Given the description of an element on the screen output the (x, y) to click on. 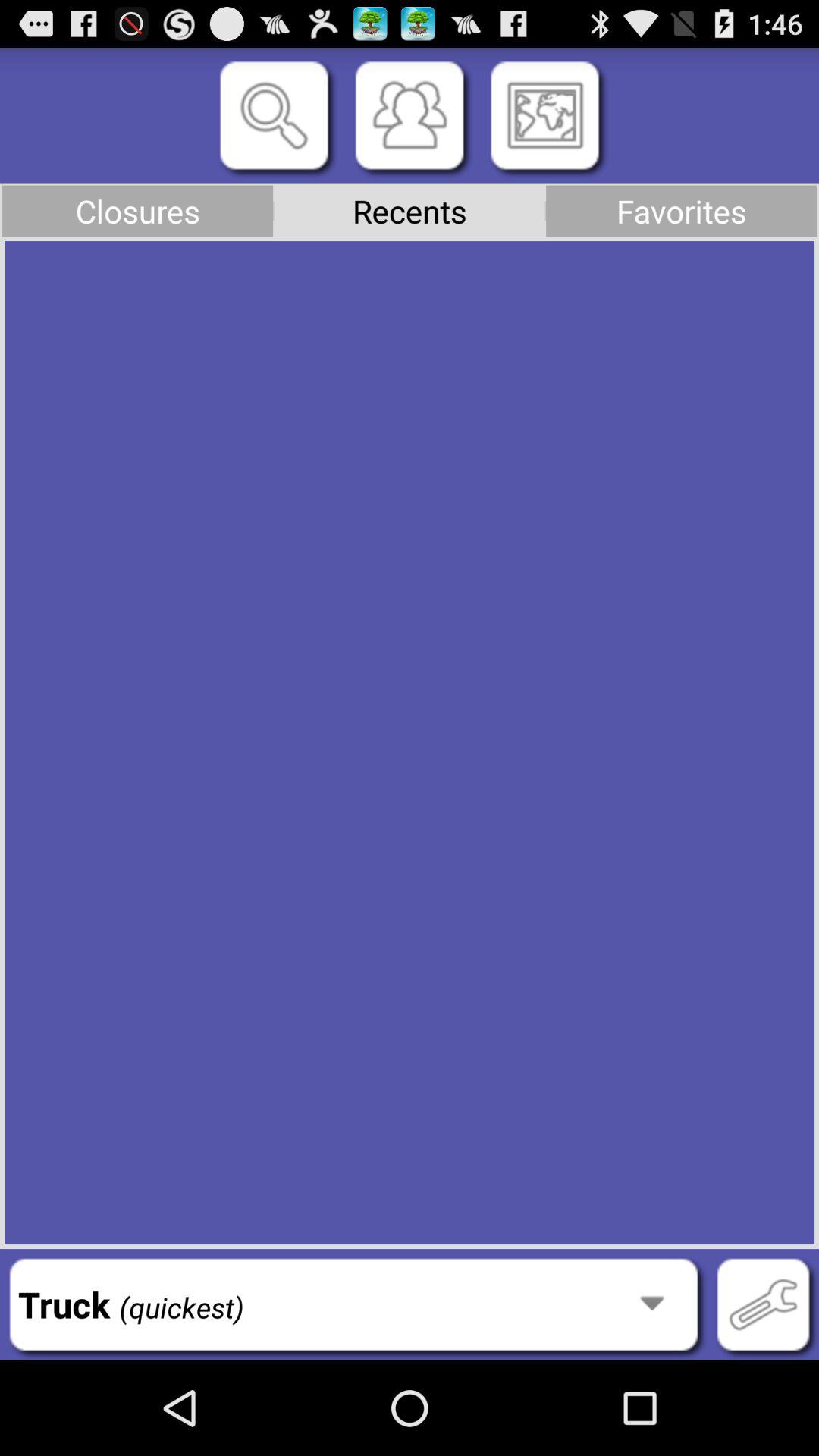
open item at the bottom right corner (763, 1304)
